Given the description of an element on the screen output the (x, y) to click on. 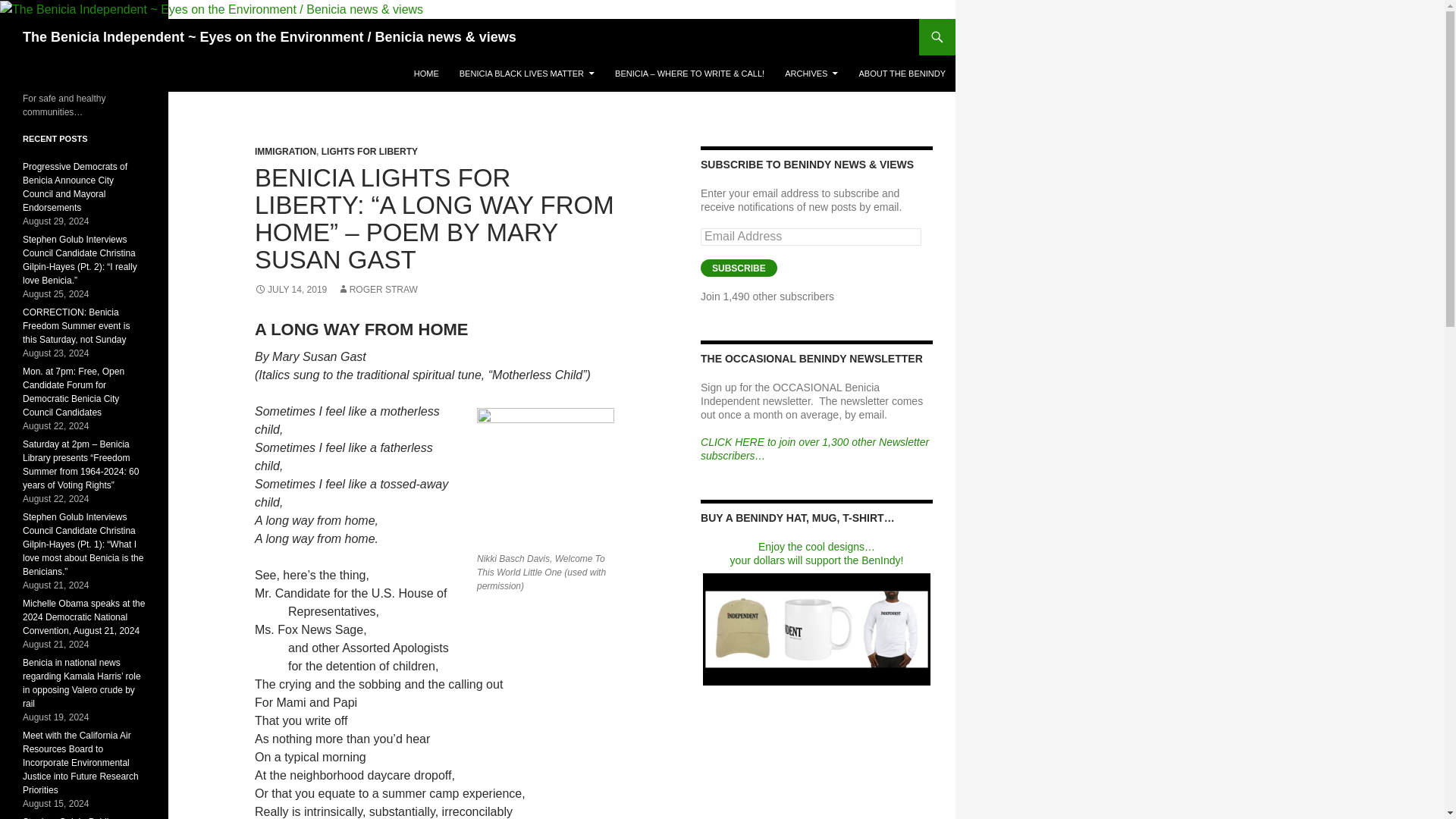
HOME (426, 73)
ARCHIVES (811, 73)
BENICIA BLACK LIVES MATTER (526, 73)
